Given the description of an element on the screen output the (x, y) to click on. 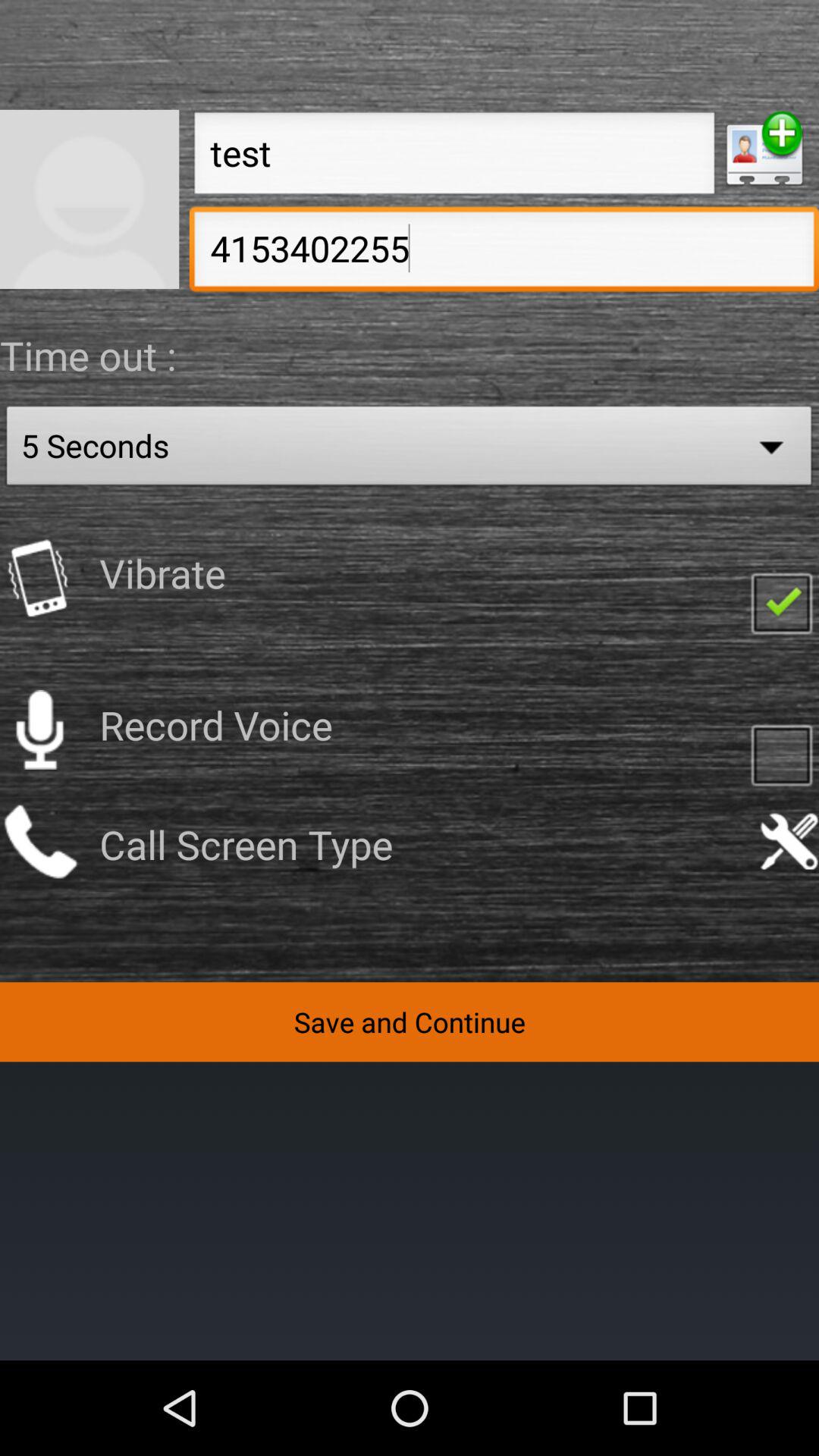
add profile (764, 149)
